Given the description of an element on the screen output the (x, y) to click on. 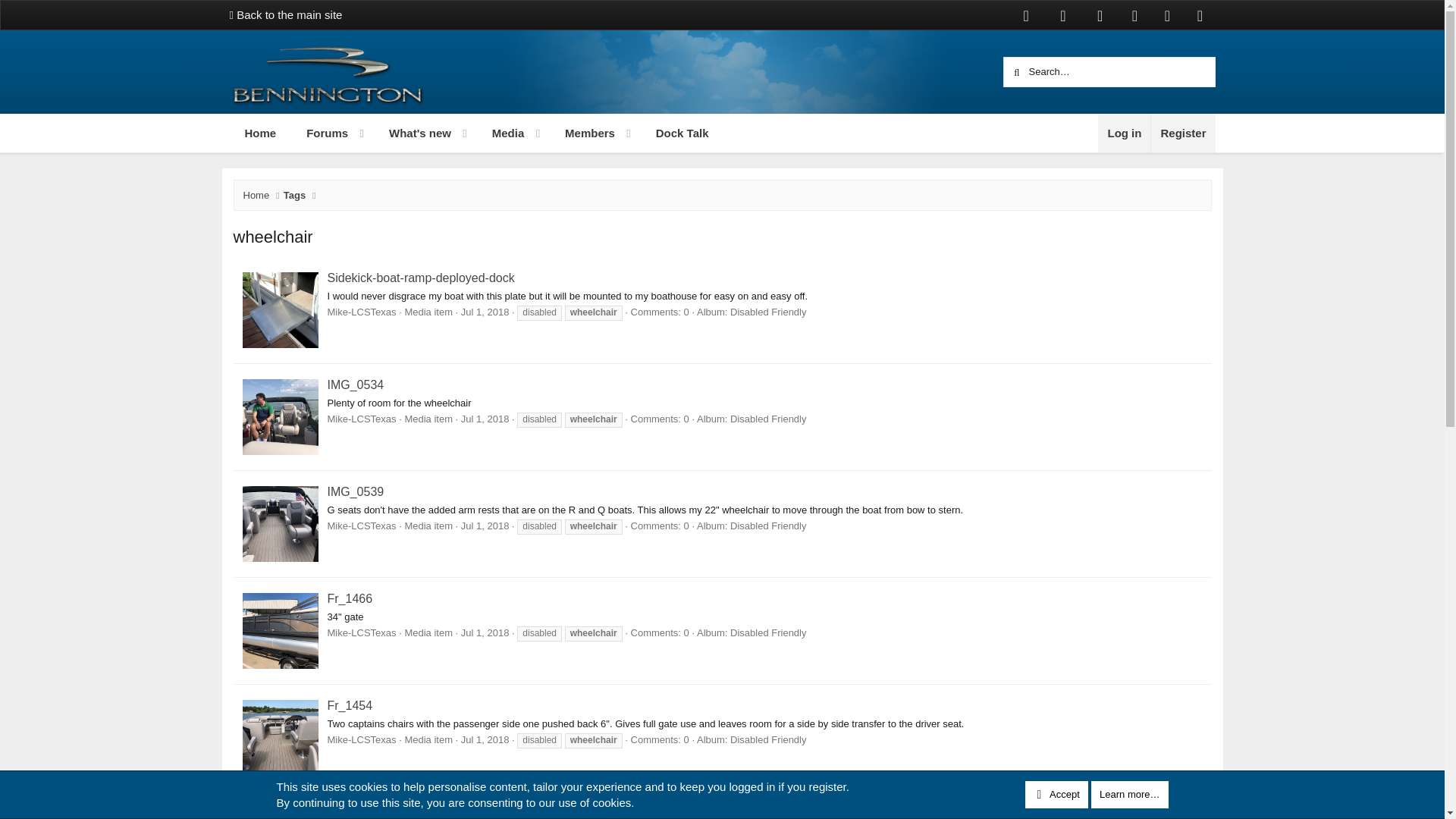
Media (501, 132)
RSS (1199, 14)
Forums (320, 132)
Dock Talk (681, 132)
Members (582, 132)
Facebook (1026, 14)
Instagram (1134, 14)
Jul 1, 2018 at 12:12 AM (485, 739)
Jul 1, 2018 at 12:17 AM (485, 419)
Home (259, 132)
